Given the description of an element on the screen output the (x, y) to click on. 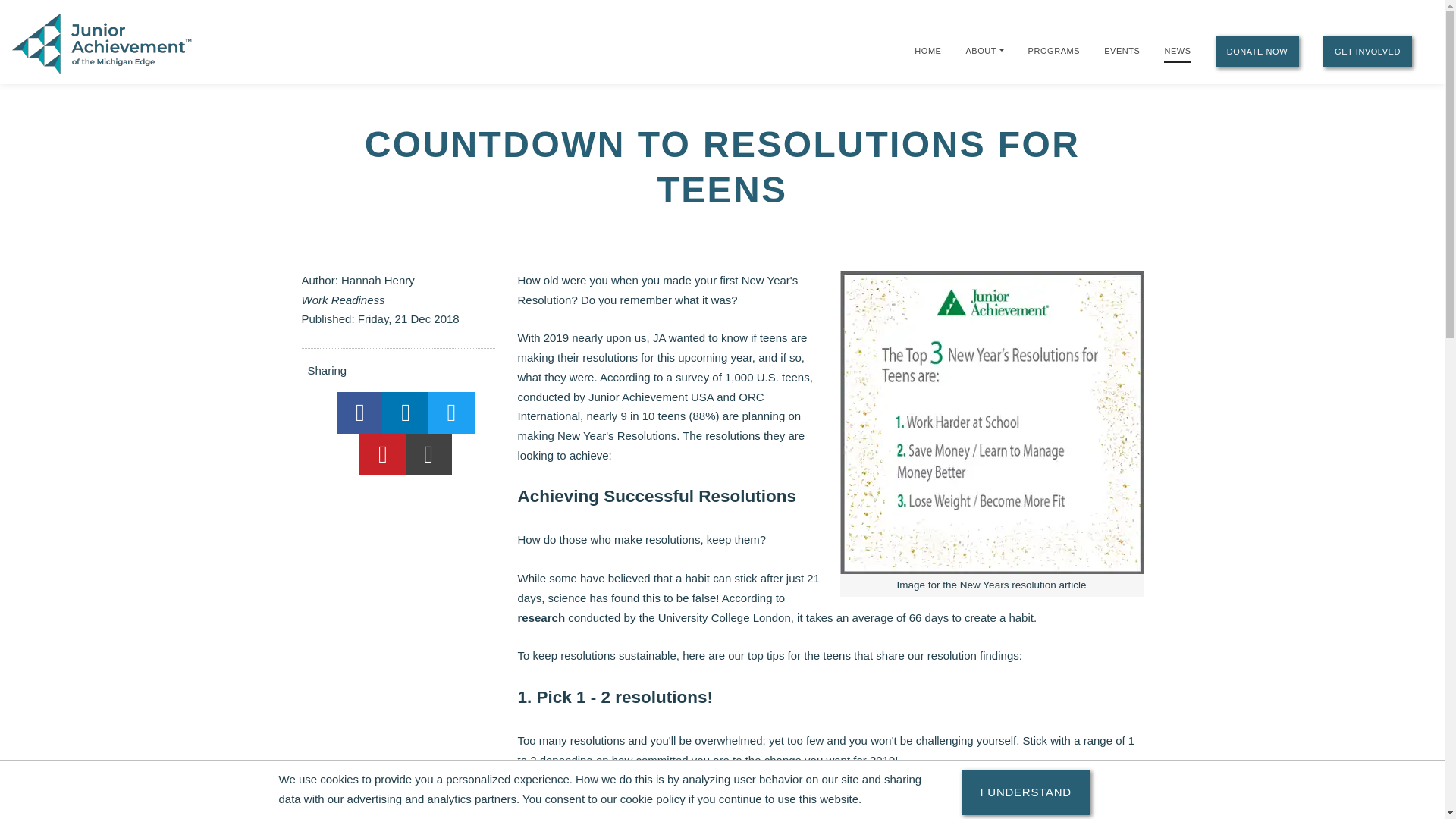
Go to Get Involved page (1367, 51)
Go to About page (980, 50)
NEWS (1177, 51)
EVENTS (1121, 50)
DONATE NOW (1256, 51)
research (540, 617)
PROGRAMS (1053, 50)
HOME (927, 50)
Go to Home page (927, 50)
GET INVOLVED (1367, 51)
Go to Programs page (1053, 50)
Go to Events page (1121, 50)
Go to Donate Now page (1256, 51)
Go to home page for Junior Achievement of the Michigan Edge (103, 42)
ABOUT (980, 50)
